Given the description of an element on the screen output the (x, y) to click on. 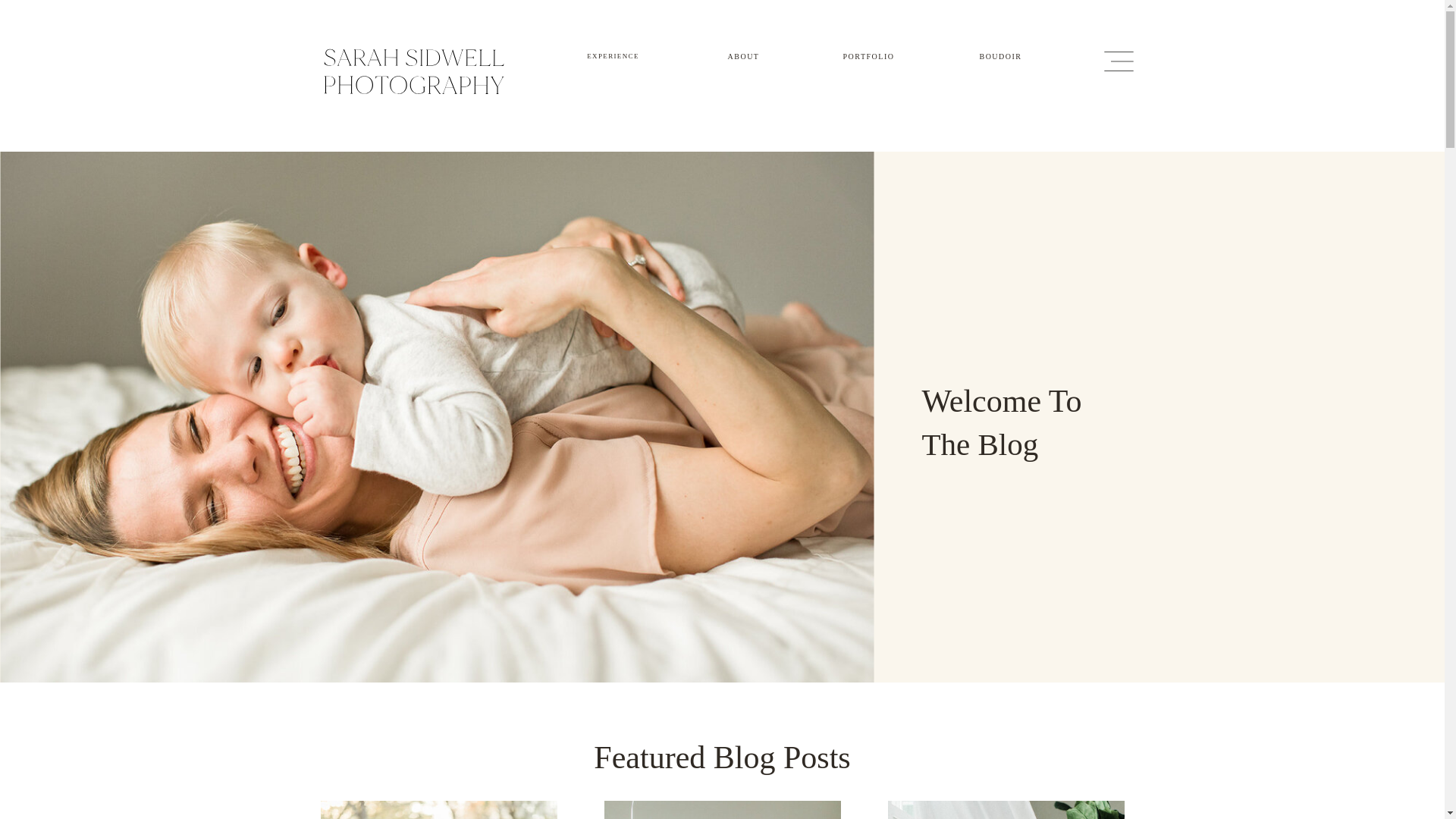
BOUDOIR (1000, 54)
PORTFOLIO (868, 54)
ABOUT (743, 54)
EXPERIENCE (613, 54)
